Given the description of an element on the screen output the (x, y) to click on. 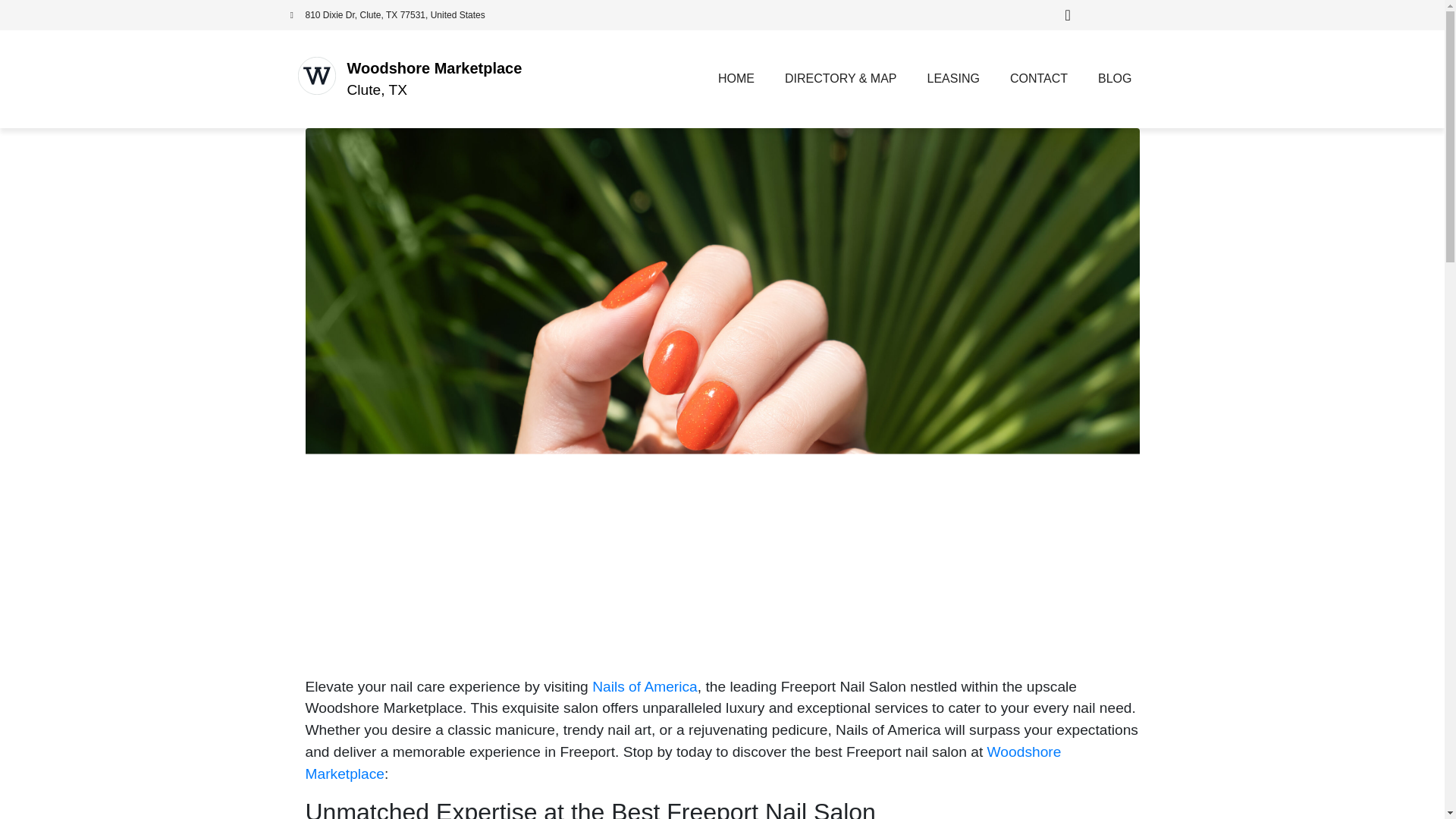
Woodshore Marketplace (434, 67)
Nails of America (644, 686)
Woodshore Marketplace (682, 762)
CONTACT (1038, 78)
LEASING (953, 78)
HOME (736, 78)
BLOG (1115, 78)
